Given the description of an element on the screen output the (x, y) to click on. 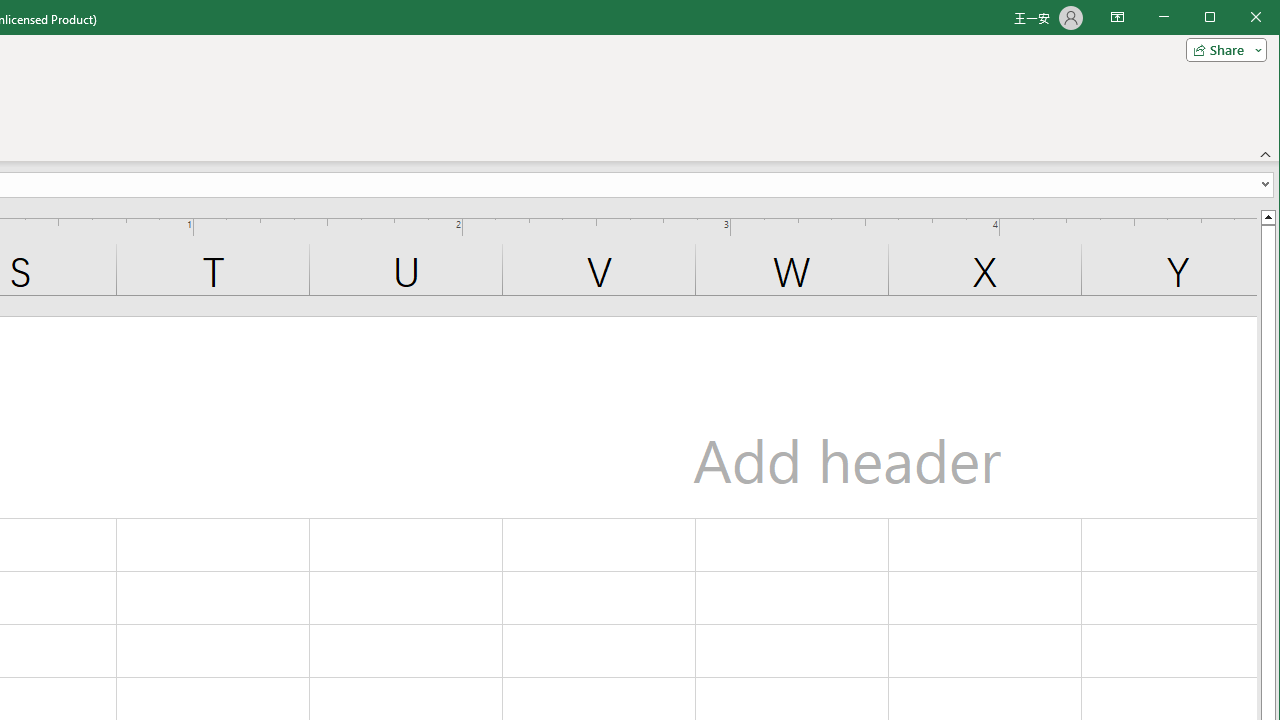
Maximize (1238, 18)
